Given the description of an element on the screen output the (x, y) to click on. 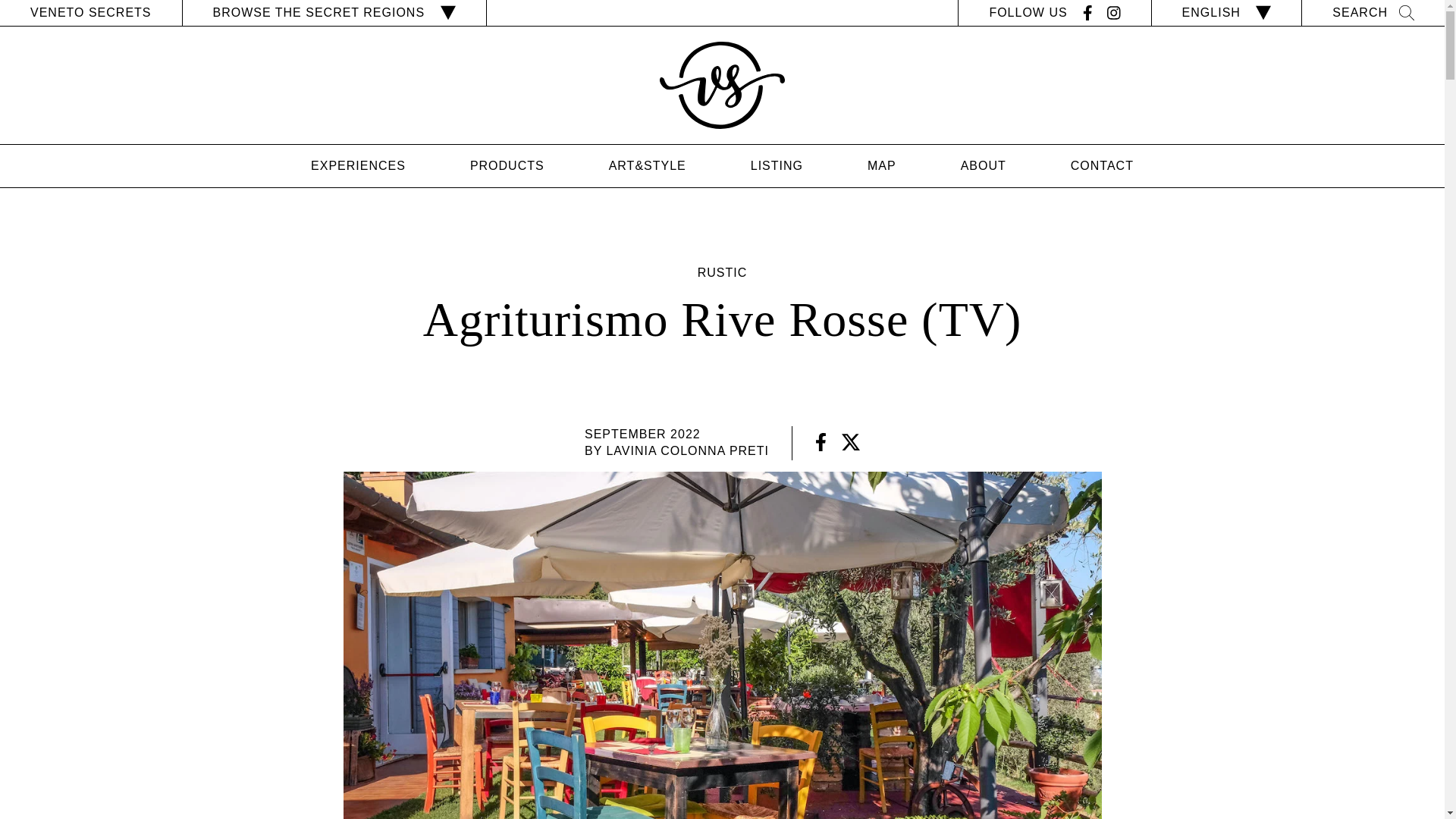
MAP (881, 165)
RUSTIC (722, 273)
SEARCH (1372, 13)
ENGLISH (1226, 11)
EXPERIENCES (358, 165)
LISTING (777, 165)
CONTACT (1102, 165)
BROWSE THE SECRET REGIONS (333, 11)
PRODUCTS (507, 165)
ABOUT (983, 165)
